Given the description of an element on the screen output the (x, y) to click on. 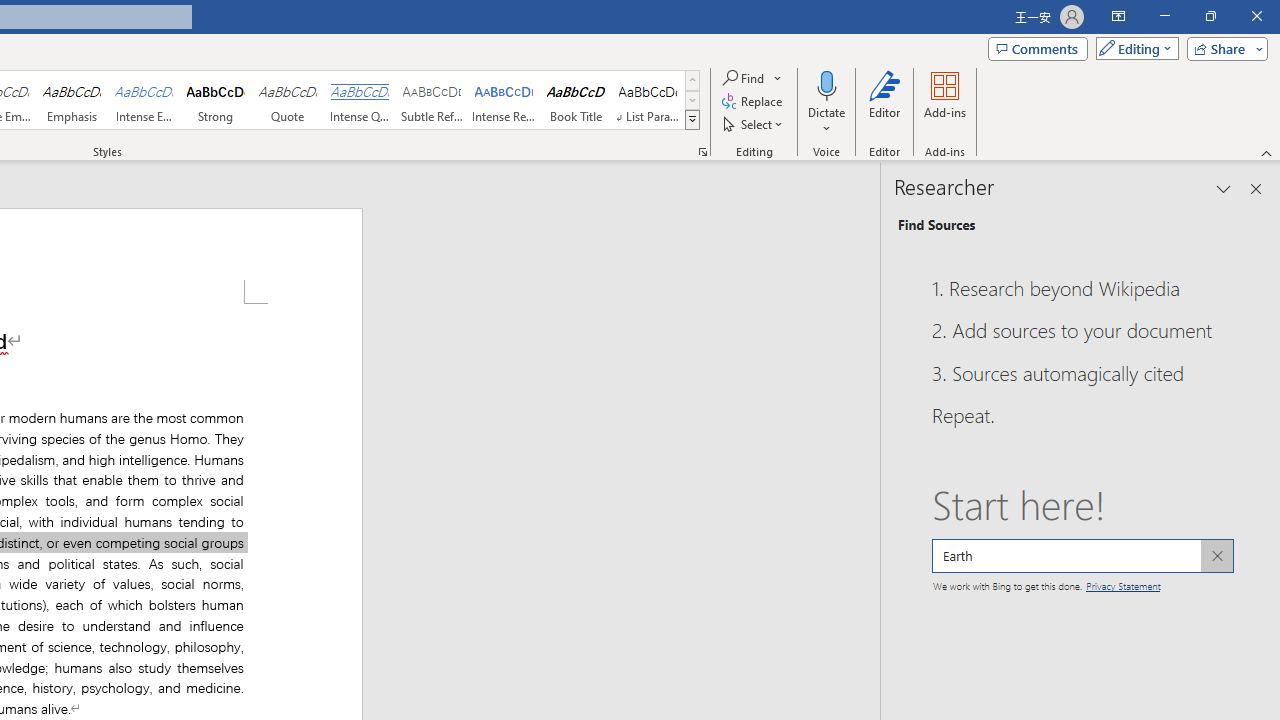
Close (1256, 16)
Row Down (692, 100)
Privacy Statement (1122, 584)
Collapse the Ribbon (1267, 152)
Task Pane Options (1224, 188)
Book Title (575, 100)
Close pane (1256, 188)
Minimize (1164, 16)
Emphasis (71, 100)
Comments (1038, 48)
Intense Emphasis (143, 100)
Styles (692, 120)
Cancel (1216, 555)
